Given the description of an element on the screen output the (x, y) to click on. 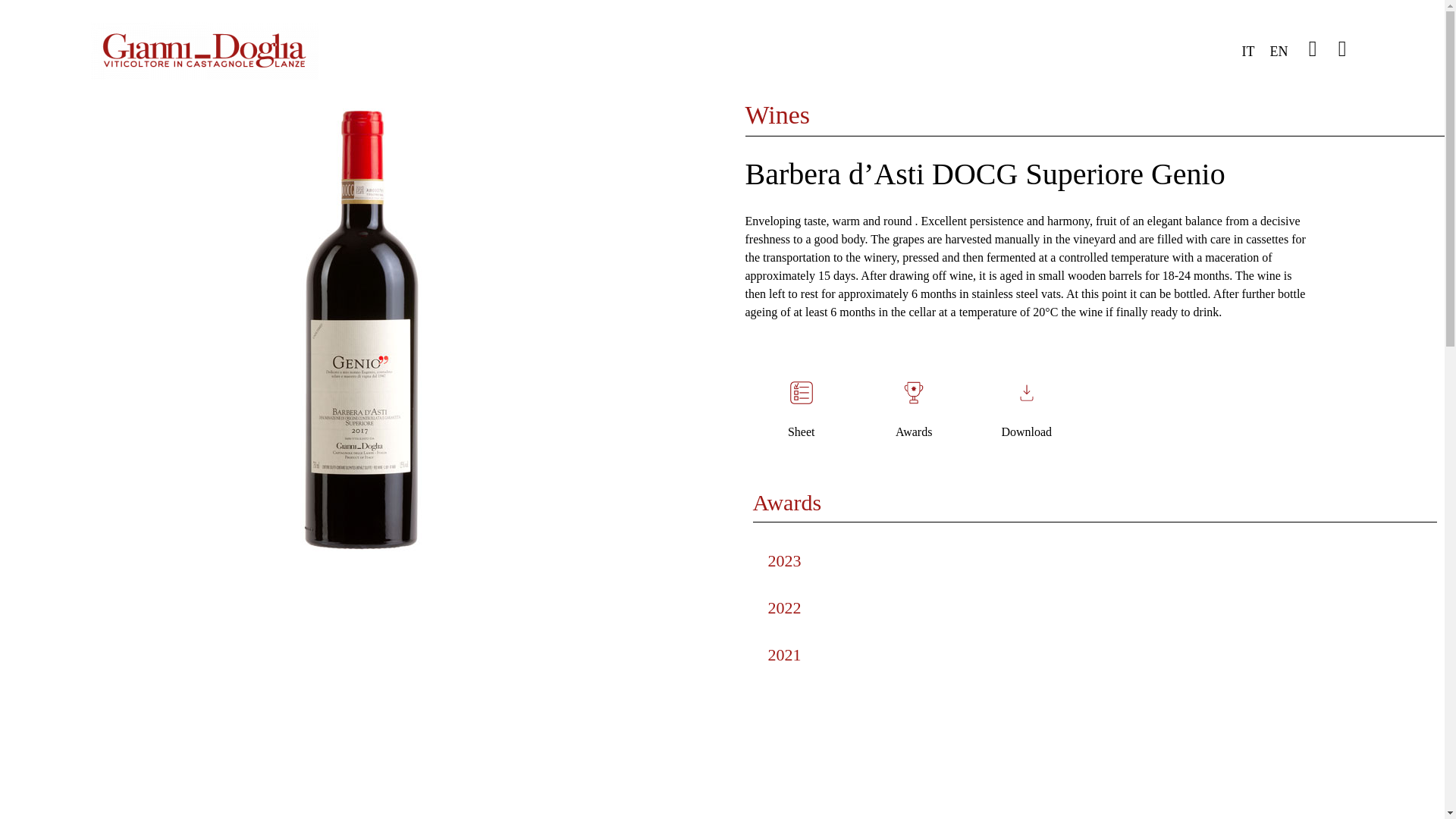
Download (1026, 431)
IT (1247, 51)
EN (1278, 51)
Awards (913, 431)
Sheet (801, 431)
